Given the description of an element on the screen output the (x, y) to click on. 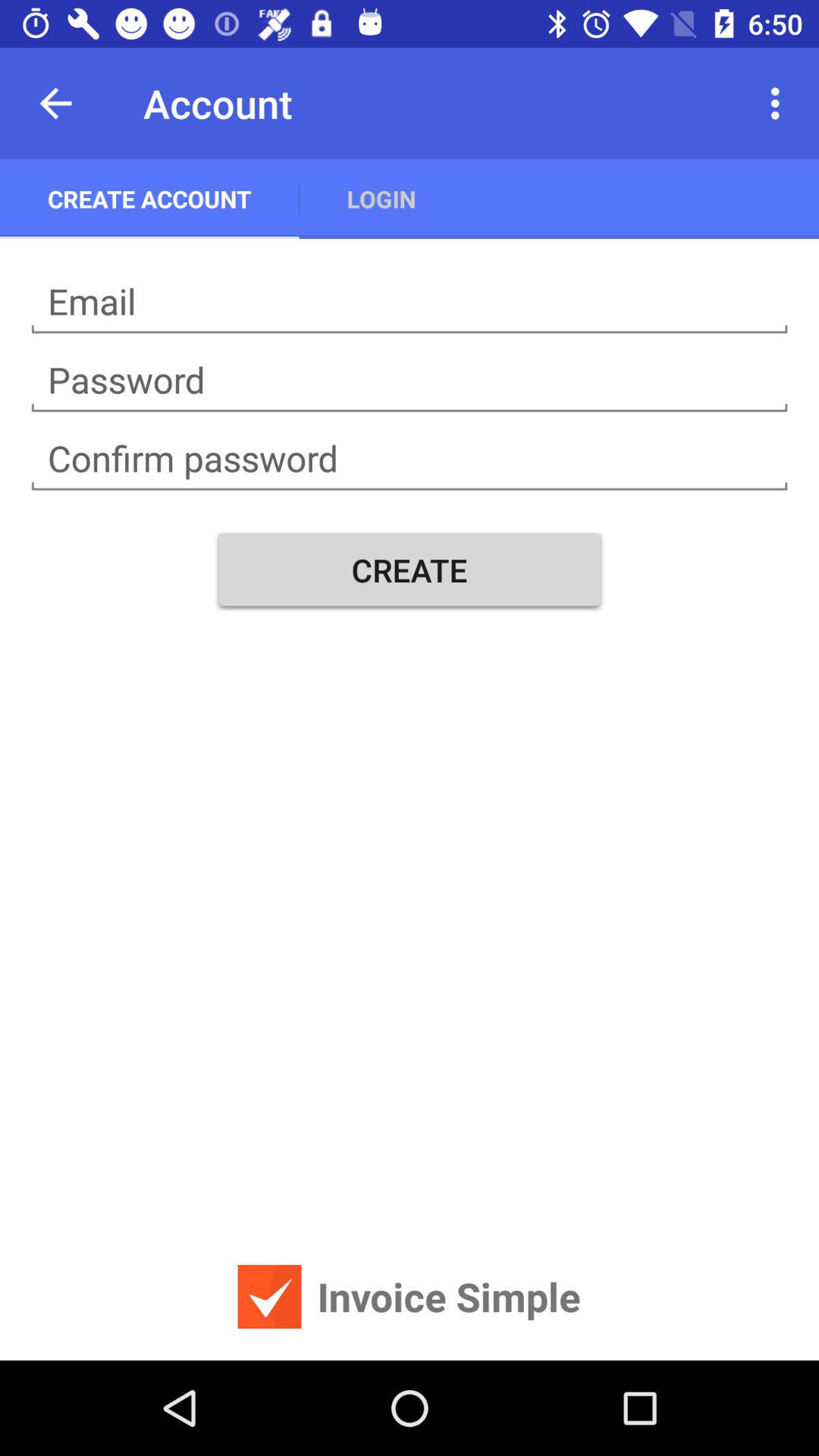
turn on the icon above the create account icon (55, 103)
